Given the description of an element on the screen output the (x, y) to click on. 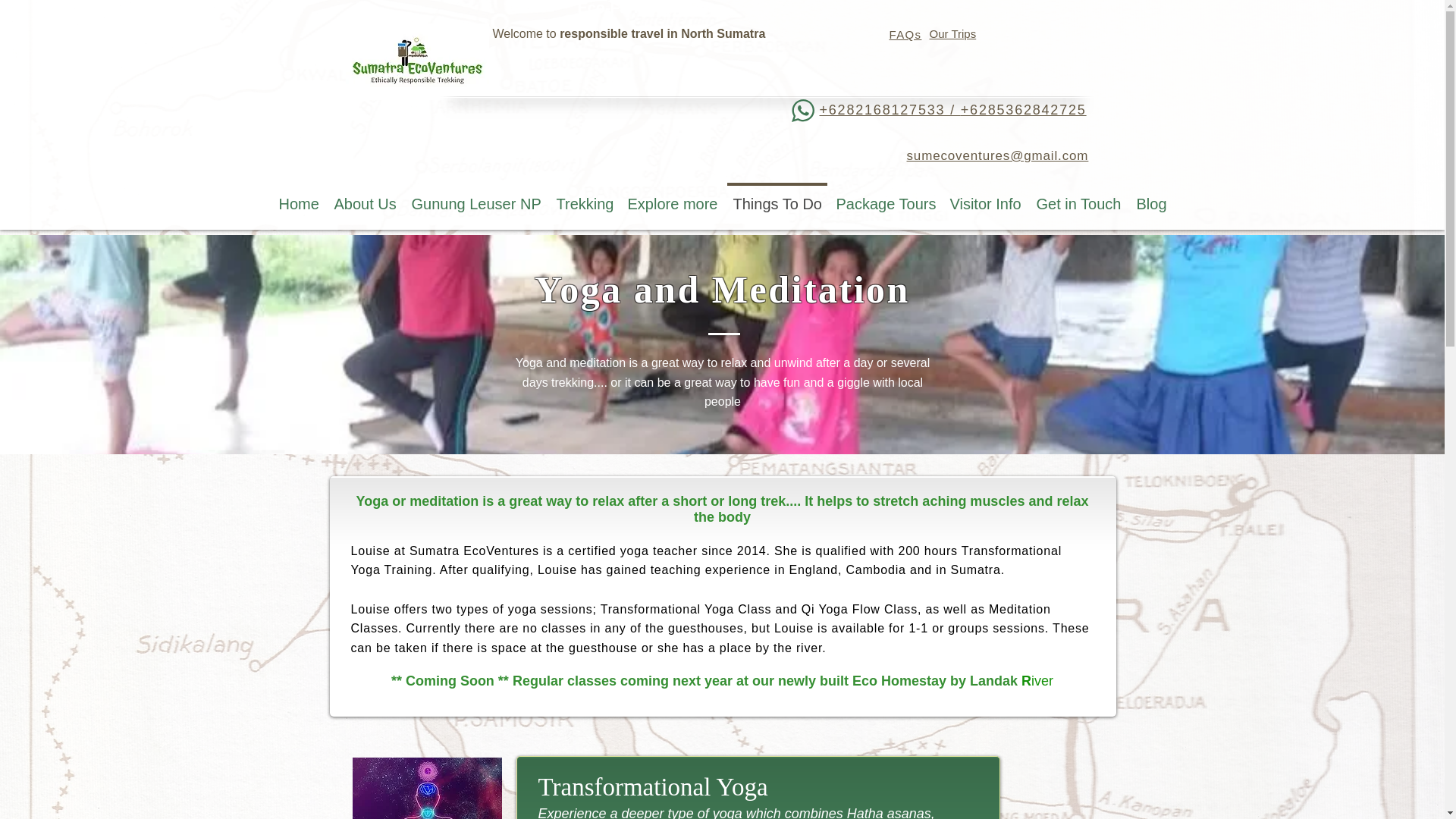
Trekking (584, 197)
Eco-Farming (622, 7)
sumatra ecoventurs logo (416, 61)
FAQs (904, 33)
Home (298, 197)
Our Trips (953, 33)
Things To Do (776, 197)
Explore more (672, 197)
Package Tours (885, 197)
Gunung Leuser NP (475, 197)
